Given the description of an element on the screen output the (x, y) to click on. 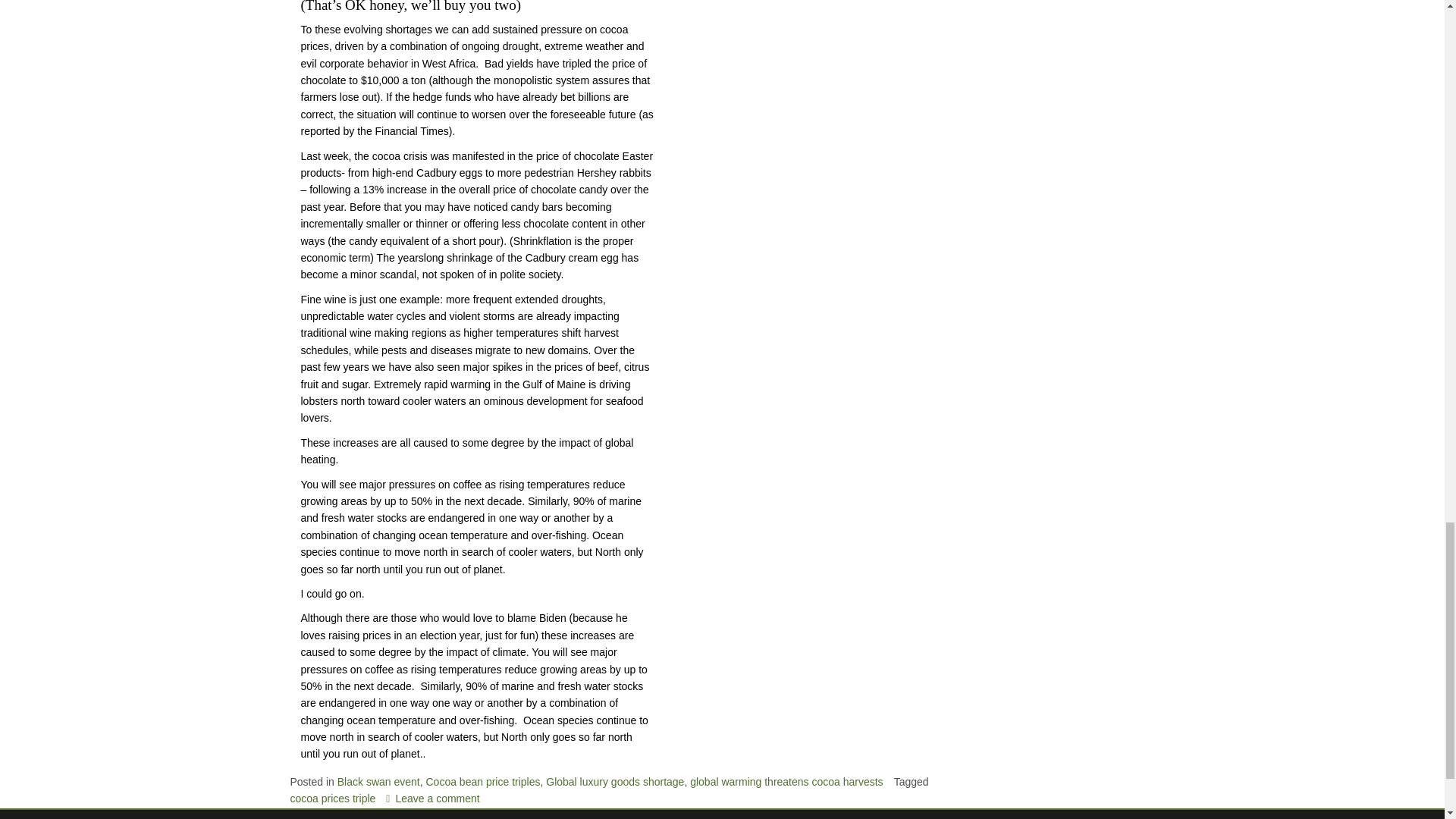
Black swan event (378, 781)
cocoa prices triple (332, 798)
Global luxury goods shortage (615, 781)
global warming threatens cocoa harvests (786, 781)
Leave a comment (432, 798)
Cocoa bean price triples (483, 781)
